Given the description of an element on the screen output the (x, y) to click on. 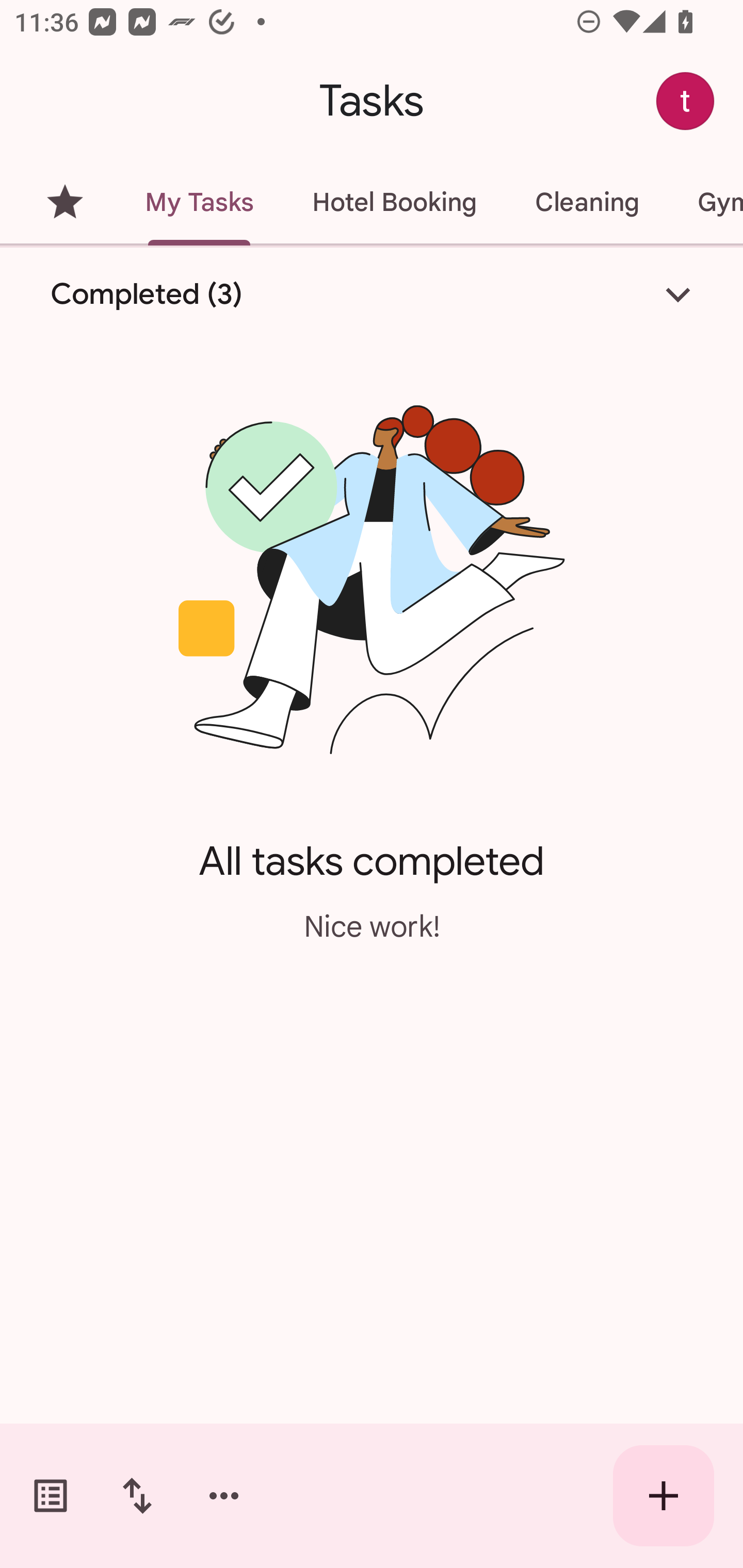
Starred (64, 202)
Hotel Booking (394, 202)
Cleaning (586, 202)
Completed (3) (371, 294)
Switch task lists (50, 1495)
Create new task (663, 1495)
Change sort order (136, 1495)
More options (223, 1495)
